Given the description of an element on the screen output the (x, y) to click on. 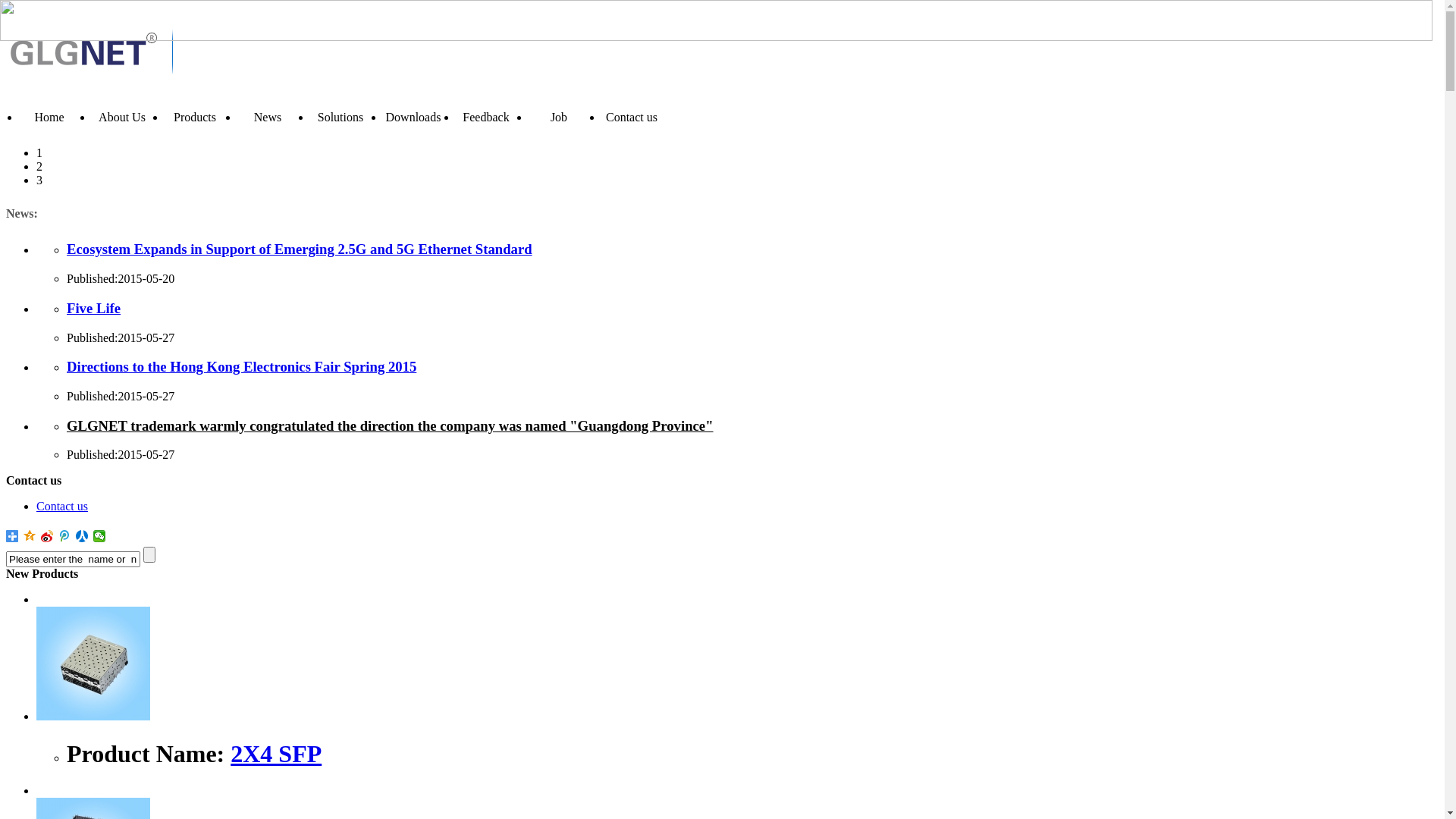
Directions to the Hong Kong Electronics Fair Spring 2015 Element type: text (241, 366)
2X4 SFP Element type: text (275, 753)
Home Element type: text (49, 117)
2X4 SFP Element type: hover (93, 715)
Contact us Element type: text (631, 117)
Five Life Element type: text (93, 308)
News Element type: text (267, 117)
Solutions Element type: text (340, 117)
About Us Element type: text (121, 117)
English Element type: text (721, 117)
Products Element type: text (194, 117)
2X4 SFP Element type: hover (93, 663)
Contact us Element type: text (61, 505)
Downloads Element type: text (413, 117)
Job Element type: text (558, 117)
Feedback Element type: text (485, 117)
